Given the description of an element on the screen output the (x, y) to click on. 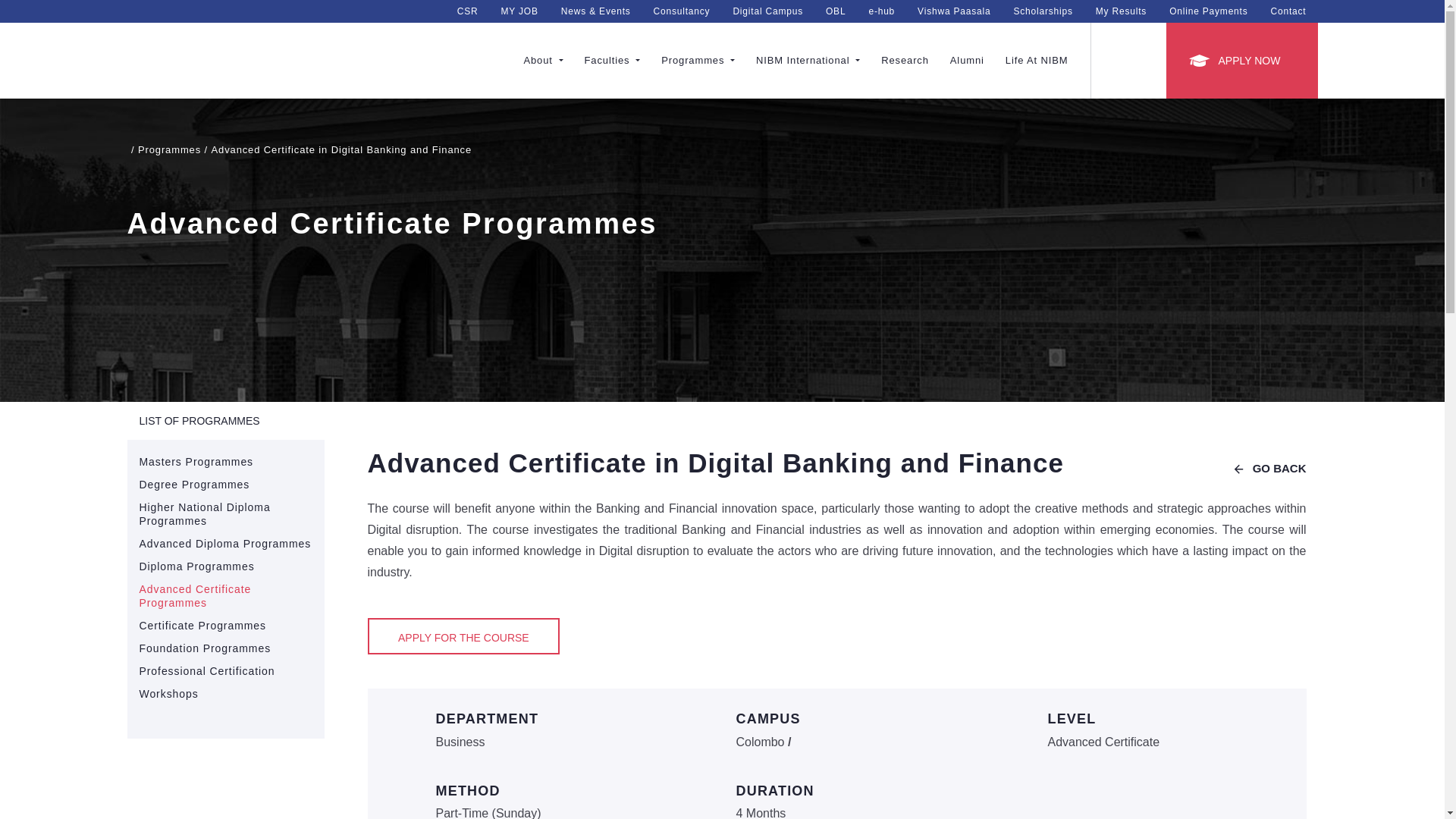
OBL (835, 11)
Vishwa Paasala (953, 11)
Digital Campus (766, 11)
Scholarships (1042, 11)
MY JOB (519, 11)
Online Payments (1208, 11)
e-hub (881, 11)
My Results (1120, 11)
CSR (467, 11)
Consultancy (682, 11)
